Given the description of an element on the screen output the (x, y) to click on. 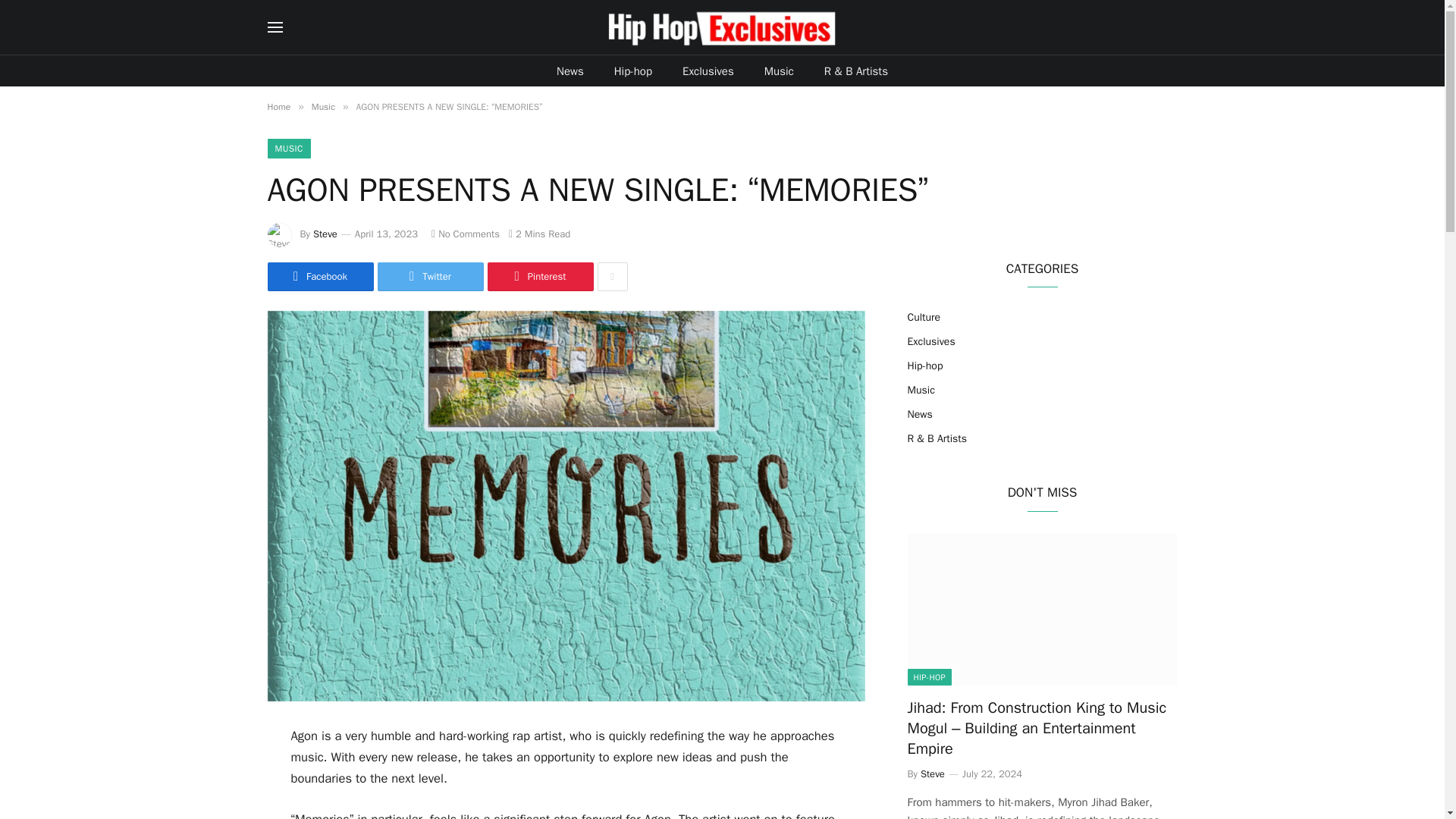
Posts by Steve (325, 233)
Music (779, 70)
Share on Facebook (319, 276)
Share on Pinterest (539, 276)
Pinterest (539, 276)
HipHop Exclusives (722, 27)
Home (277, 106)
Hip-hop (632, 70)
Twitter (430, 276)
No Comments (464, 233)
News (569, 70)
Music (322, 106)
Steve (325, 233)
MUSIC (288, 148)
Facebook (319, 276)
